Given the description of an element on the screen output the (x, y) to click on. 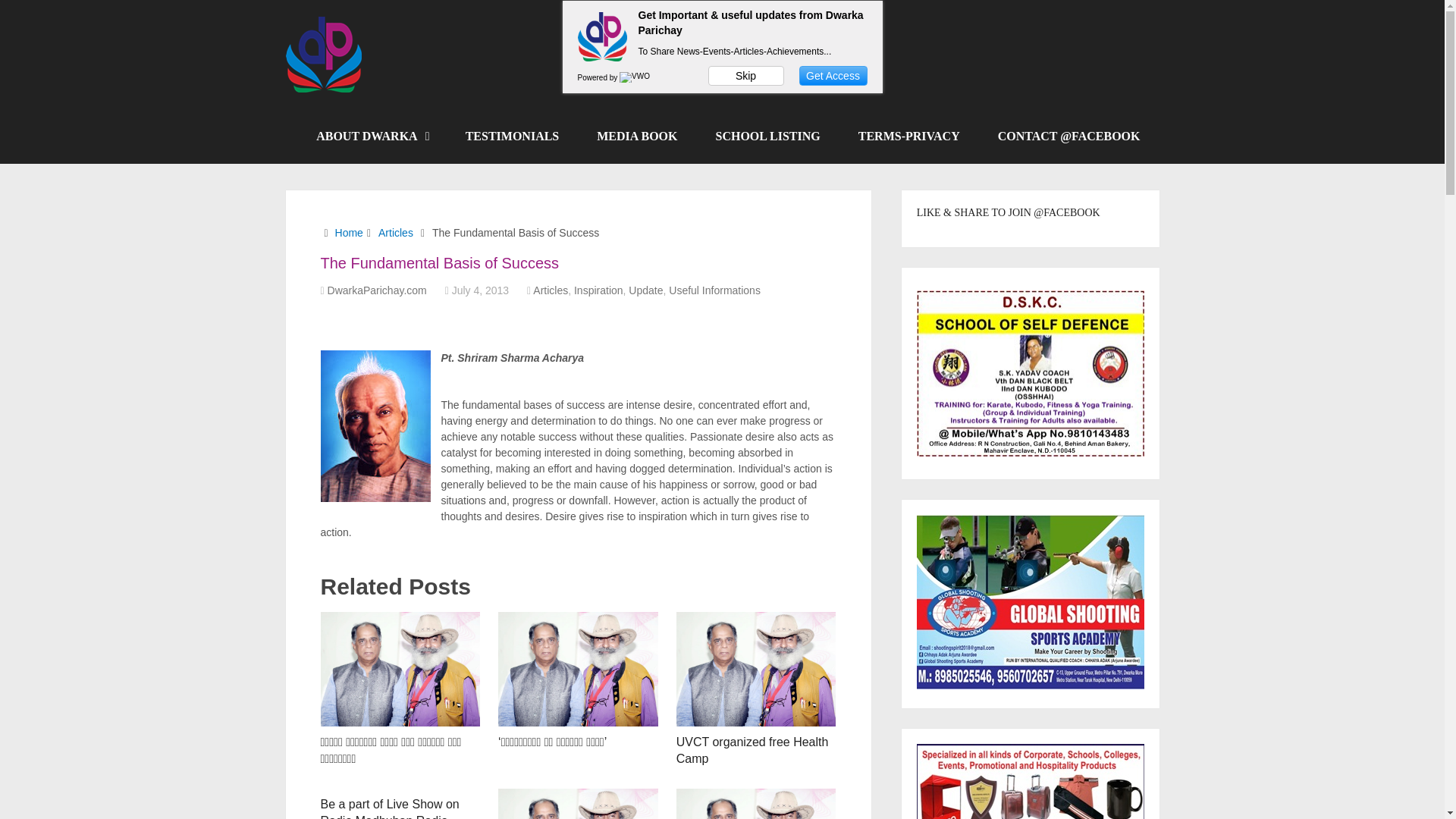
View all posts in Inspiration (598, 290)
Update (645, 290)
TERMS-PRIVACY (909, 135)
Posts by DwarkaParichay.com (376, 290)
View all posts in Useful Informations (714, 290)
UVCT organized  free Health Camp (752, 749)
SCHOOL LISTING (766, 135)
MEDIA BOOK (636, 135)
View all posts in Update (645, 290)
TESTIMONIALS (512, 135)
